Given the description of an element on the screen output the (x, y) to click on. 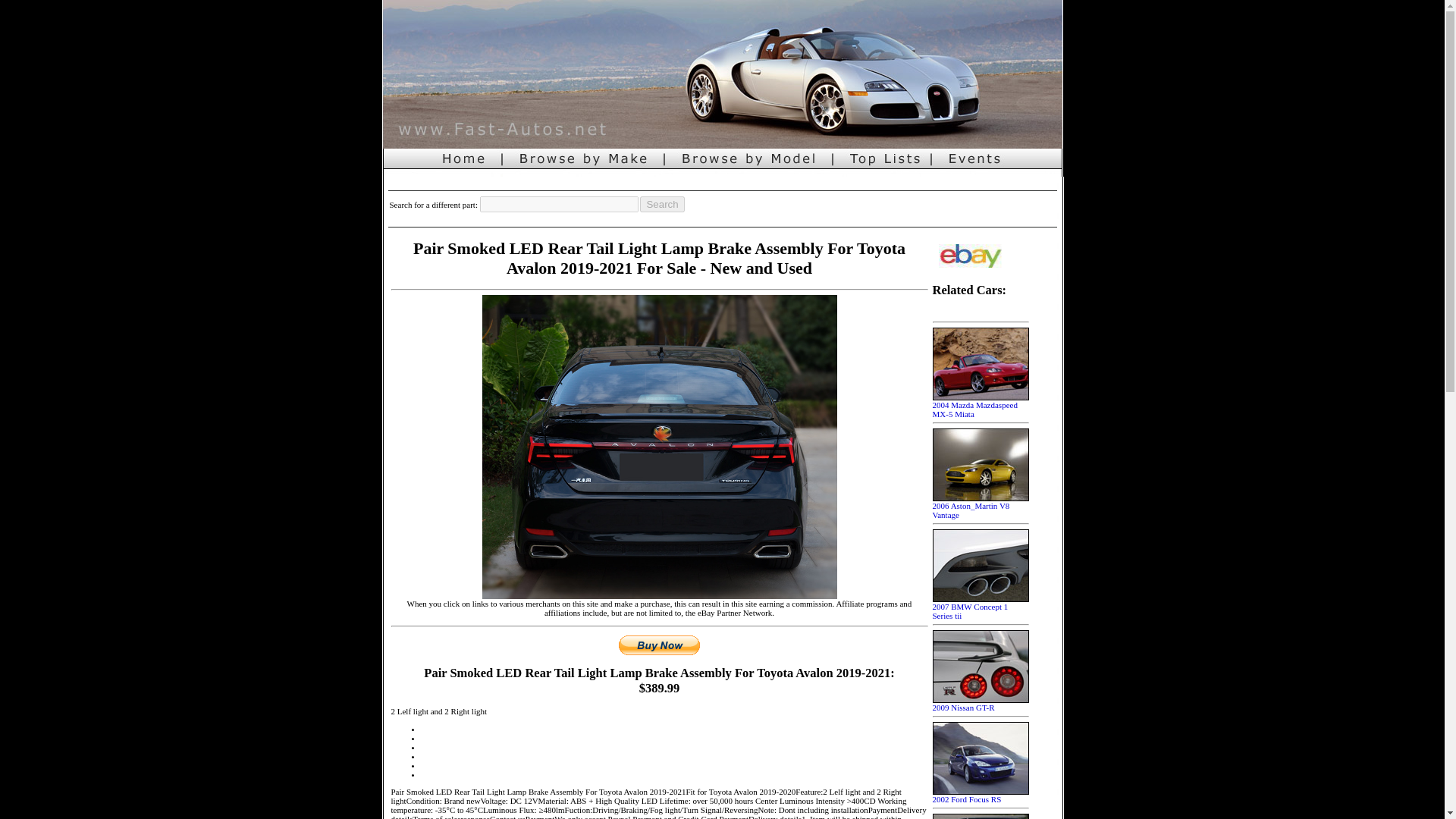
2009 Nissan GT-R pictures (981, 703)
Search (662, 204)
2002 Ford Focus RS (981, 795)
2007 BMW Concept 1 Series tii (981, 606)
2004 Mazda Mazdaspeed MX-5 Miata (981, 405)
2007 BMW Concept 1 Series tii pictures (981, 606)
2002 Ford Focus RS pictures (981, 795)
Search (662, 204)
Buy Now (659, 645)
2004 Mazda Mazdaspeed MX-5 Miata pictures (981, 405)
2009 Nissan GT-R (981, 703)
